Given the description of an element on the screen output the (x, y) to click on. 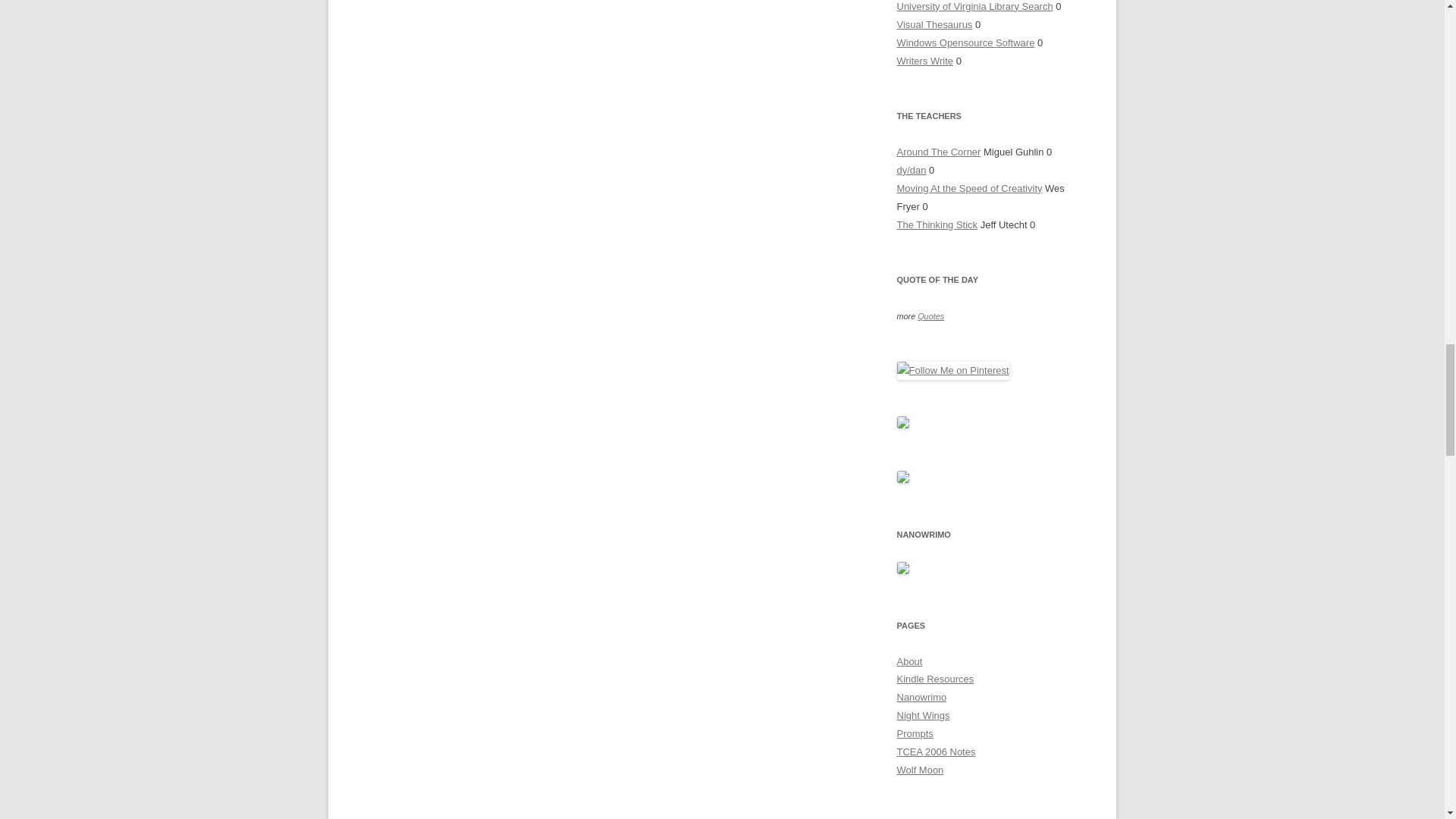
Wes Fryer (969, 188)
Miguel Guhlin (937, 152)
Jeff Utecht (936, 224)
